Given the description of an element on the screen output the (x, y) to click on. 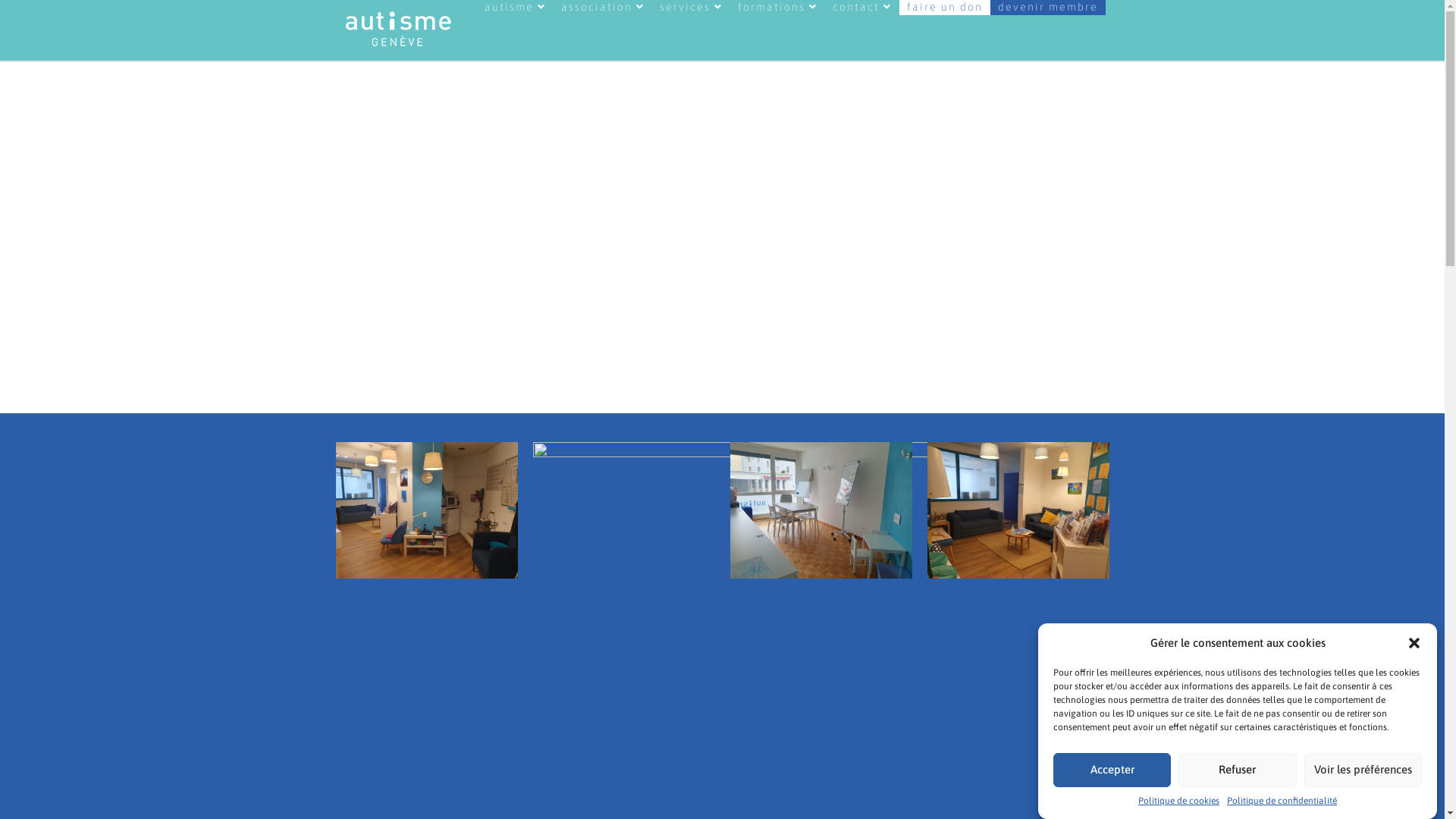
Accepter Element type: text (1111, 770)
devenir membre Element type: text (1047, 7)
services Element type: text (690, 7)
faire un don Element type: text (944, 7)
Refuser Element type: text (1236, 770)
formations Element type: text (776, 7)
autisme Element type: text (514, 7)
association Element type: text (602, 7)
contact Element type: text (861, 7)
Logo Element type: hover (459, 29)
Politique de cookies Element type: text (1178, 800)
